Given the description of an element on the screen output the (x, y) to click on. 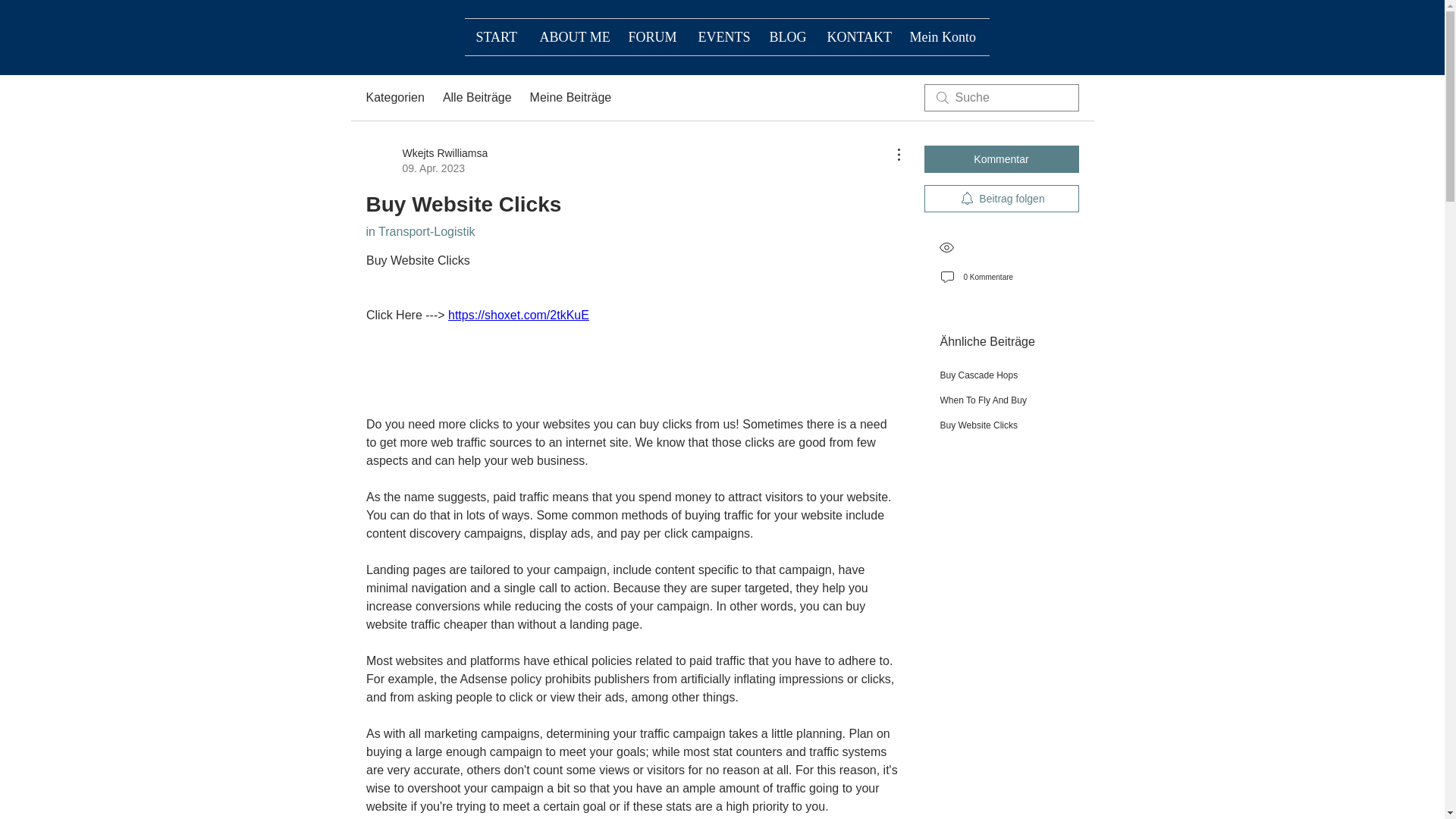
Buy Website Clicks (978, 425)
KONTAKT (856, 36)
When To Fly And Buy (983, 399)
Beitrag folgen (1000, 198)
FORUM (652, 36)
in Transport-Logistik (426, 160)
Mein Konto (419, 231)
Kommentar (943, 36)
Kategorien (1000, 158)
BLOG (394, 97)
START (786, 36)
EVENTS (495, 36)
Buy Cascade Hops (722, 36)
ABOUT ME (978, 375)
